Given the description of an element on the screen output the (x, y) to click on. 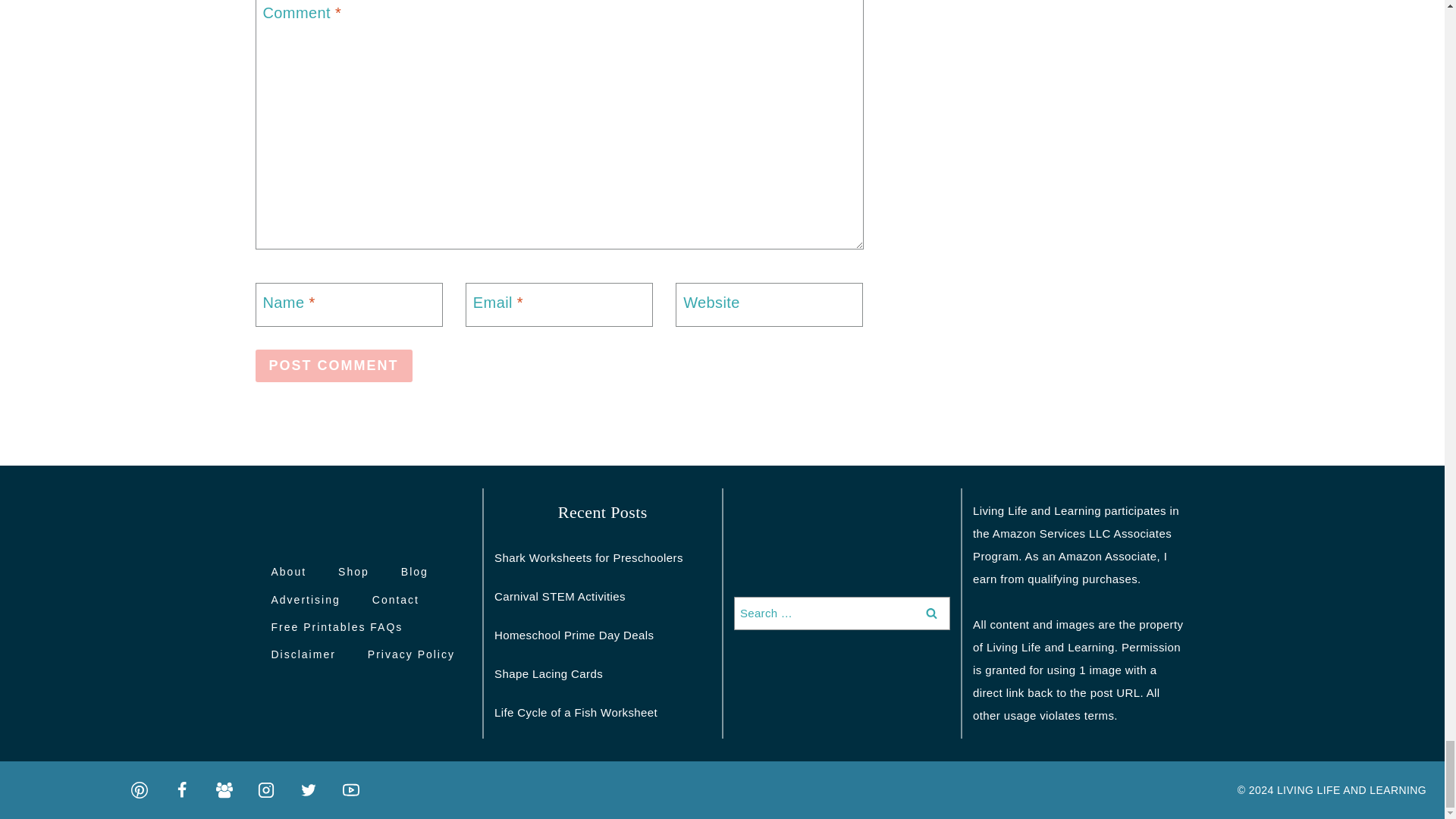
Search (931, 613)
Search (931, 613)
Post Comment (333, 365)
